Given the description of an element on the screen output the (x, y) to click on. 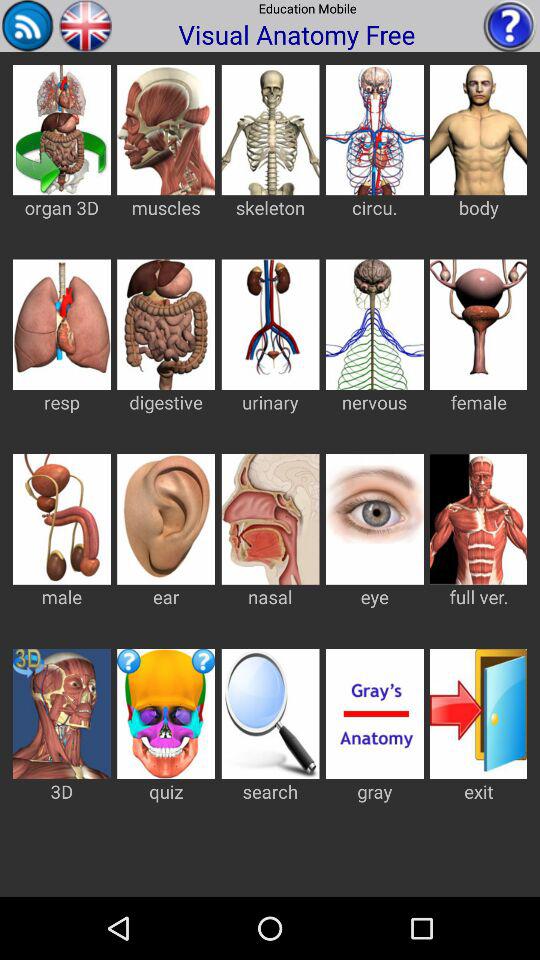
toggle wifi (27, 25)
